Given the description of an element on the screen output the (x, y) to click on. 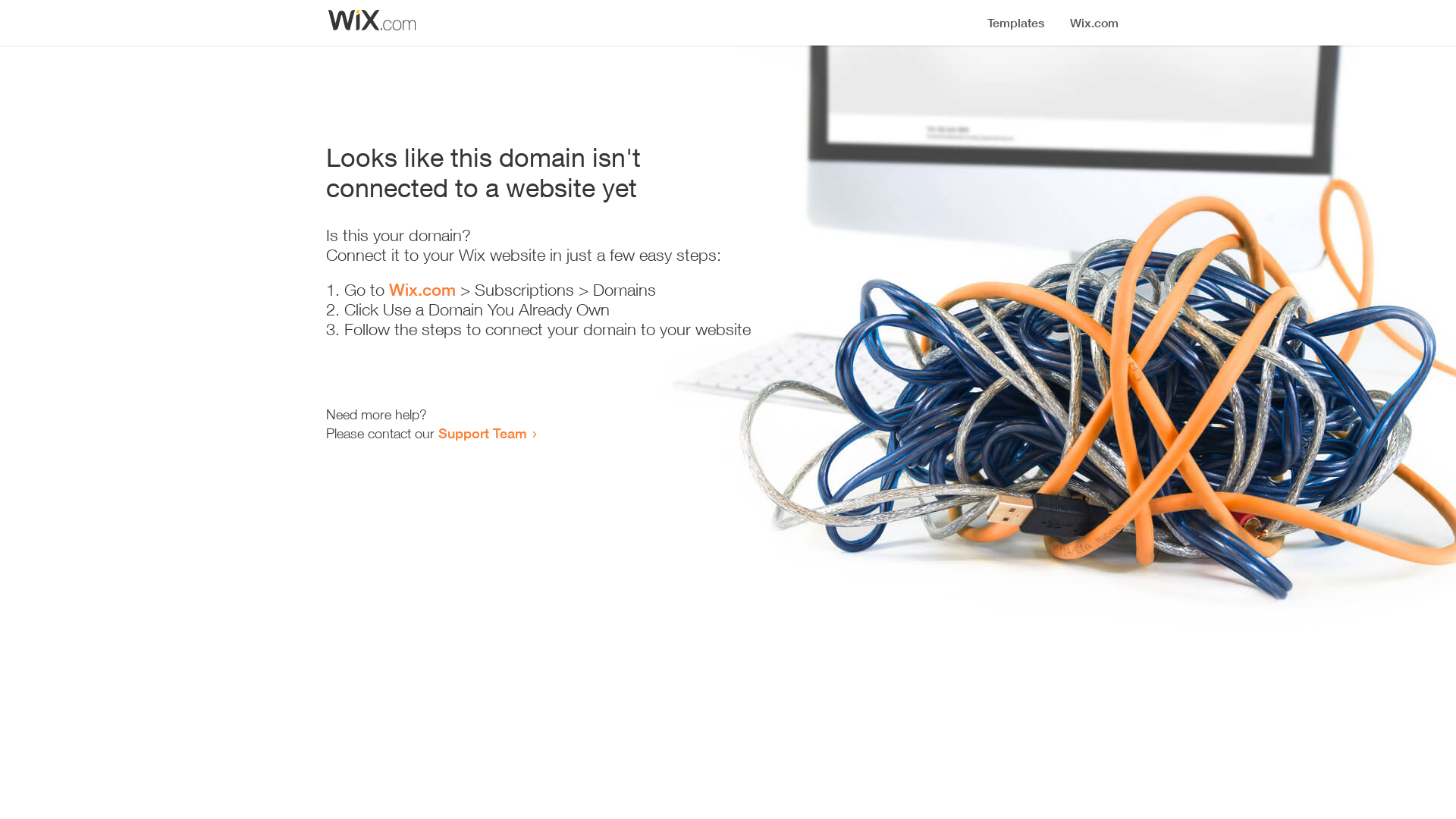
Support Team Element type: text (482, 432)
Wix.com Element type: text (422, 289)
